Given the description of an element on the screen output the (x, y) to click on. 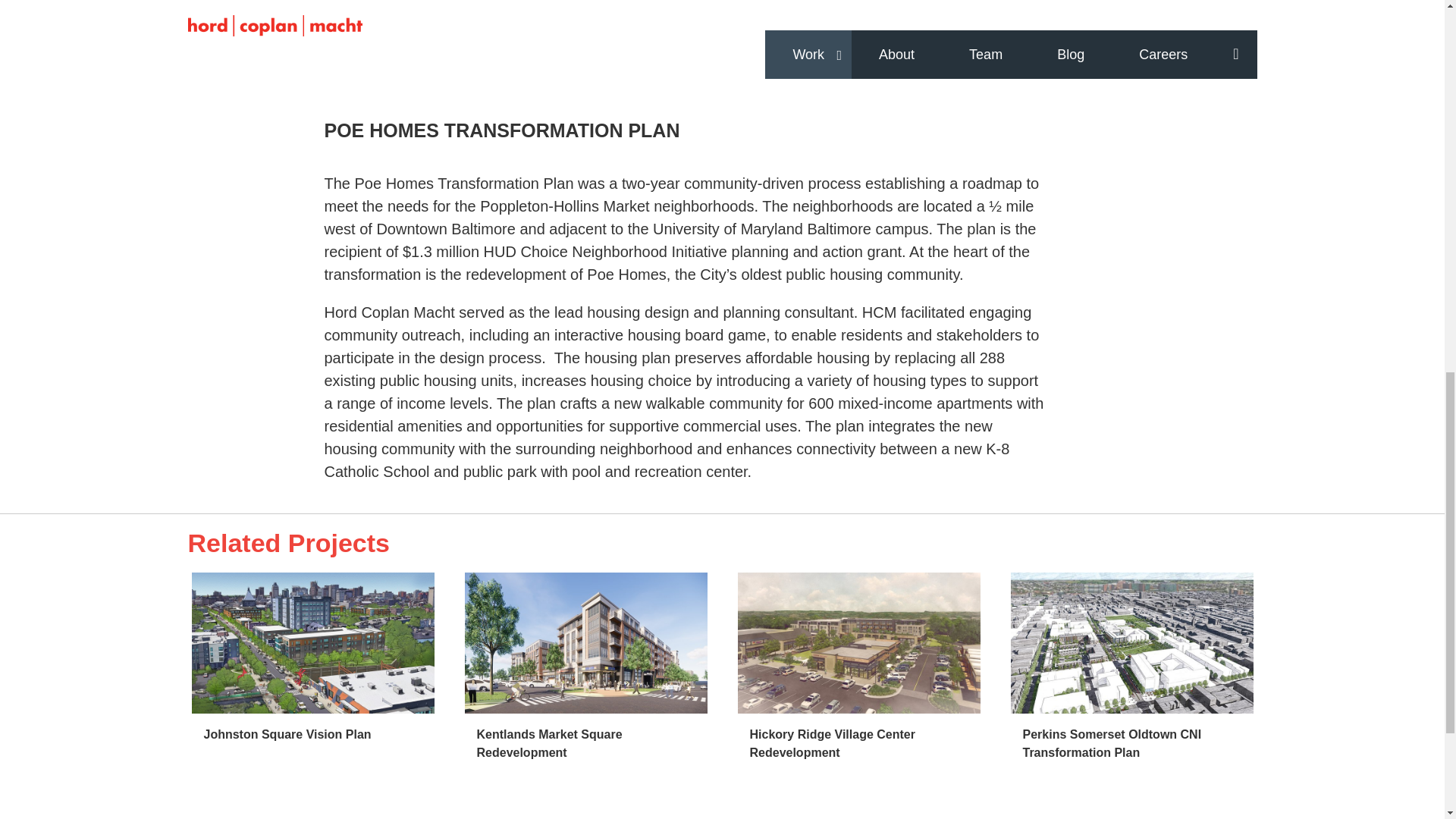
Kentlands Market Square Redevelopment (548, 743)
Johnston Square Vision Plan (287, 734)
Perkins Somerset Oldtown CNI Transformation Plan (1111, 743)
Hickory Ridge Village Center Redevelopment (831, 743)
